Given the description of an element on the screen output the (x, y) to click on. 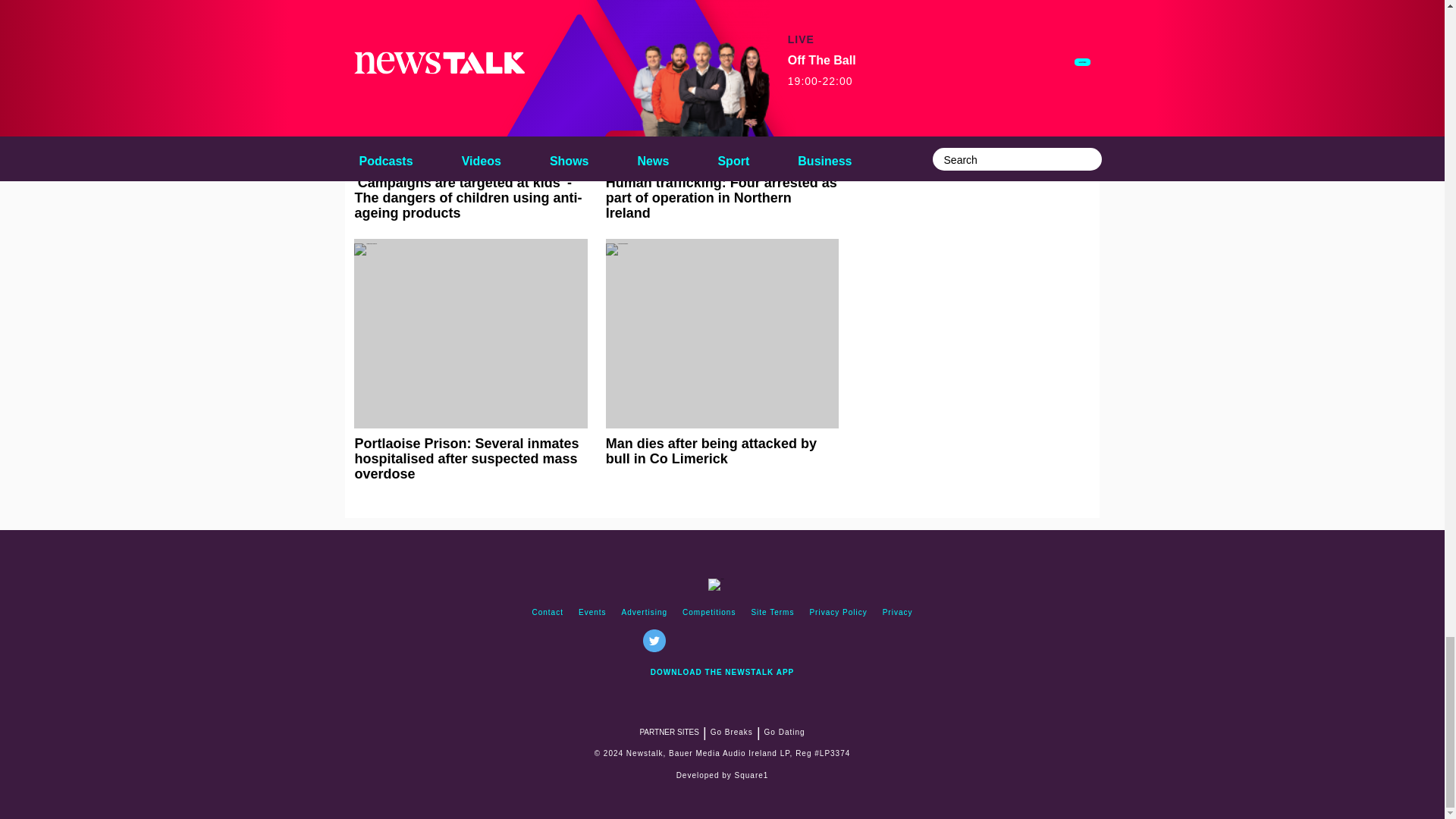
Privacy (897, 612)
advertising (644, 612)
events (592, 612)
contact (547, 612)
site terms (772, 612)
competitions (708, 612)
Privacy Policy (838, 612)
